Given the description of an element on the screen output the (x, y) to click on. 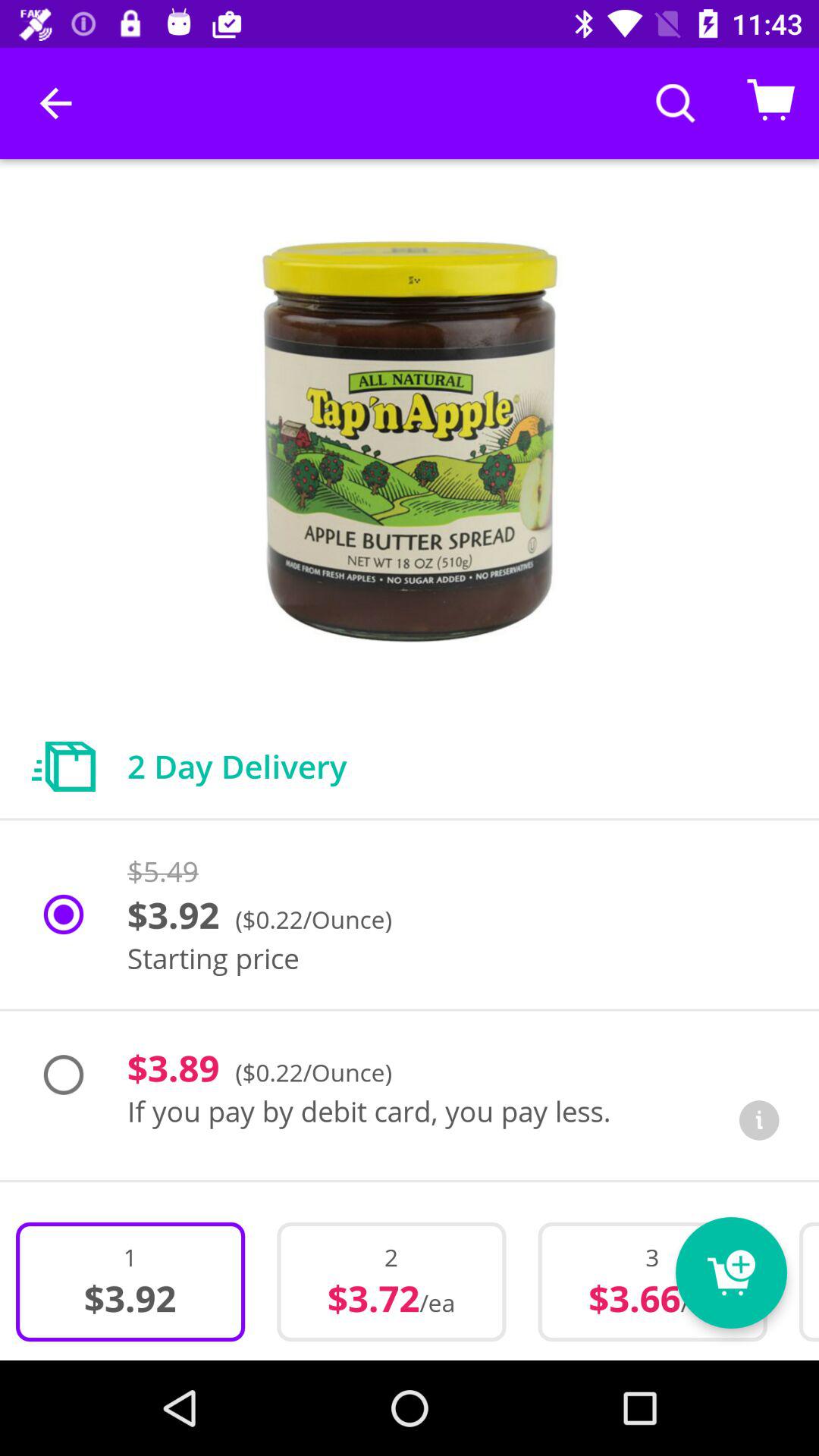
select the option add to cart from top right (771, 103)
click the search option (675, 103)
select the option which is above the home button (391, 1281)
